Given the description of an element on the screen output the (x, y) to click on. 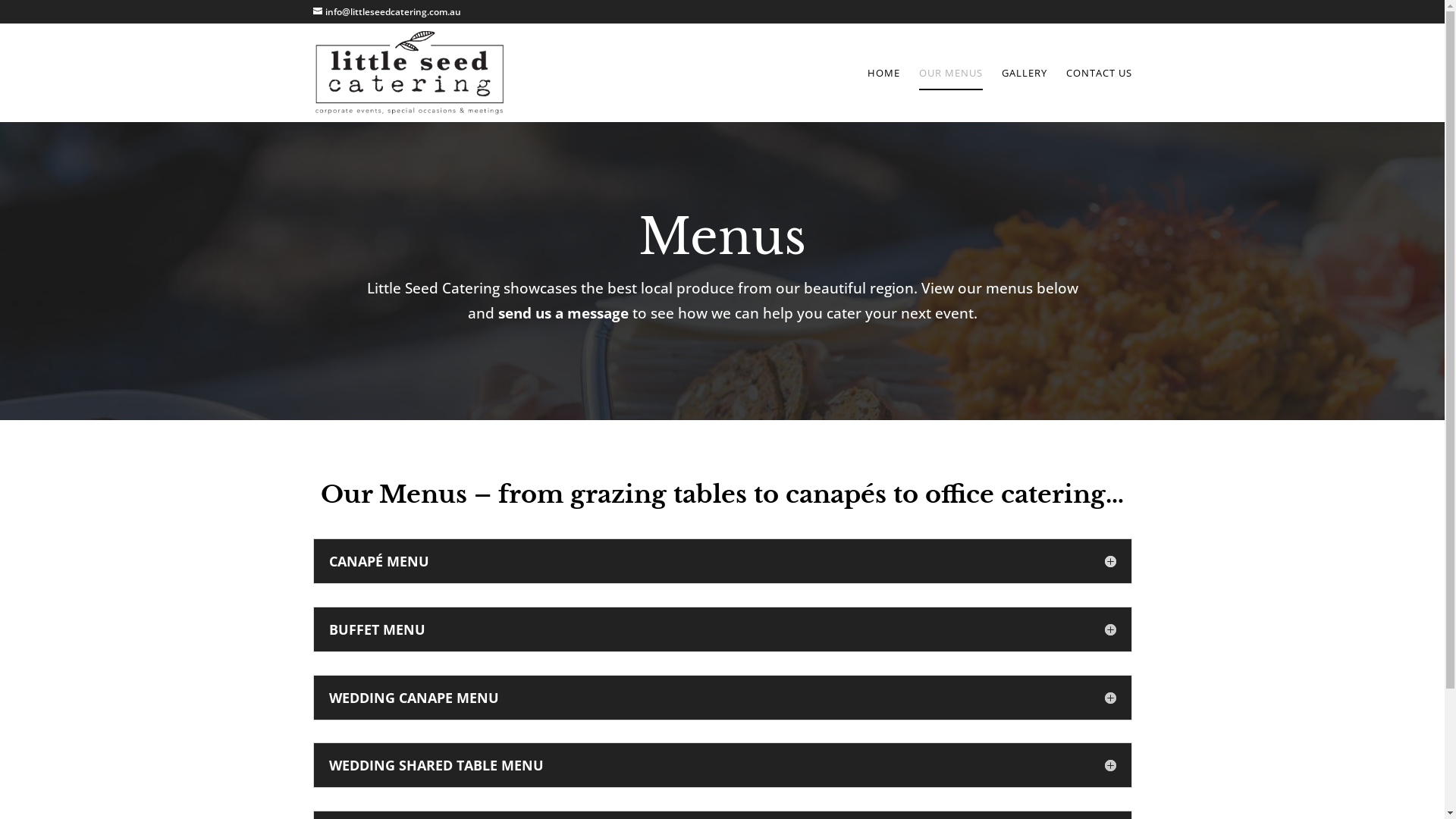
HOME Element type: text (883, 94)
CONTACT US Element type: text (1099, 94)
GALLERY Element type: text (1023, 94)
info@littleseedcatering.com.au Element type: text (386, 11)
OUR MENUS Element type: text (950, 94)
send us a message Element type: text (562, 313)
